Given the description of an element on the screen output the (x, y) to click on. 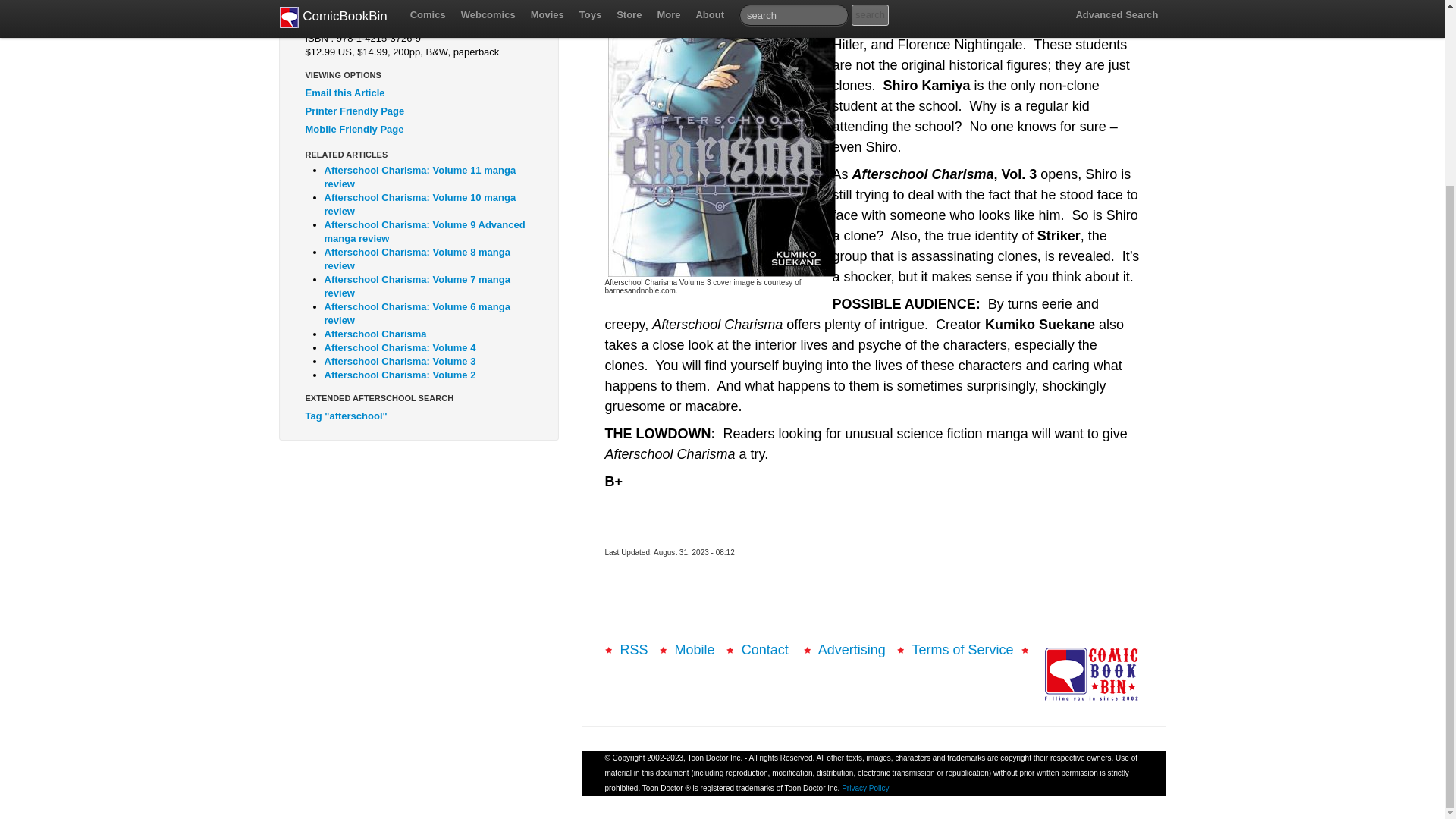
Contact (766, 649)
Mobile (694, 649)
Advertising (851, 649)
RSS (633, 649)
Terms of Service (962, 649)
